Given the description of an element on the screen output the (x, y) to click on. 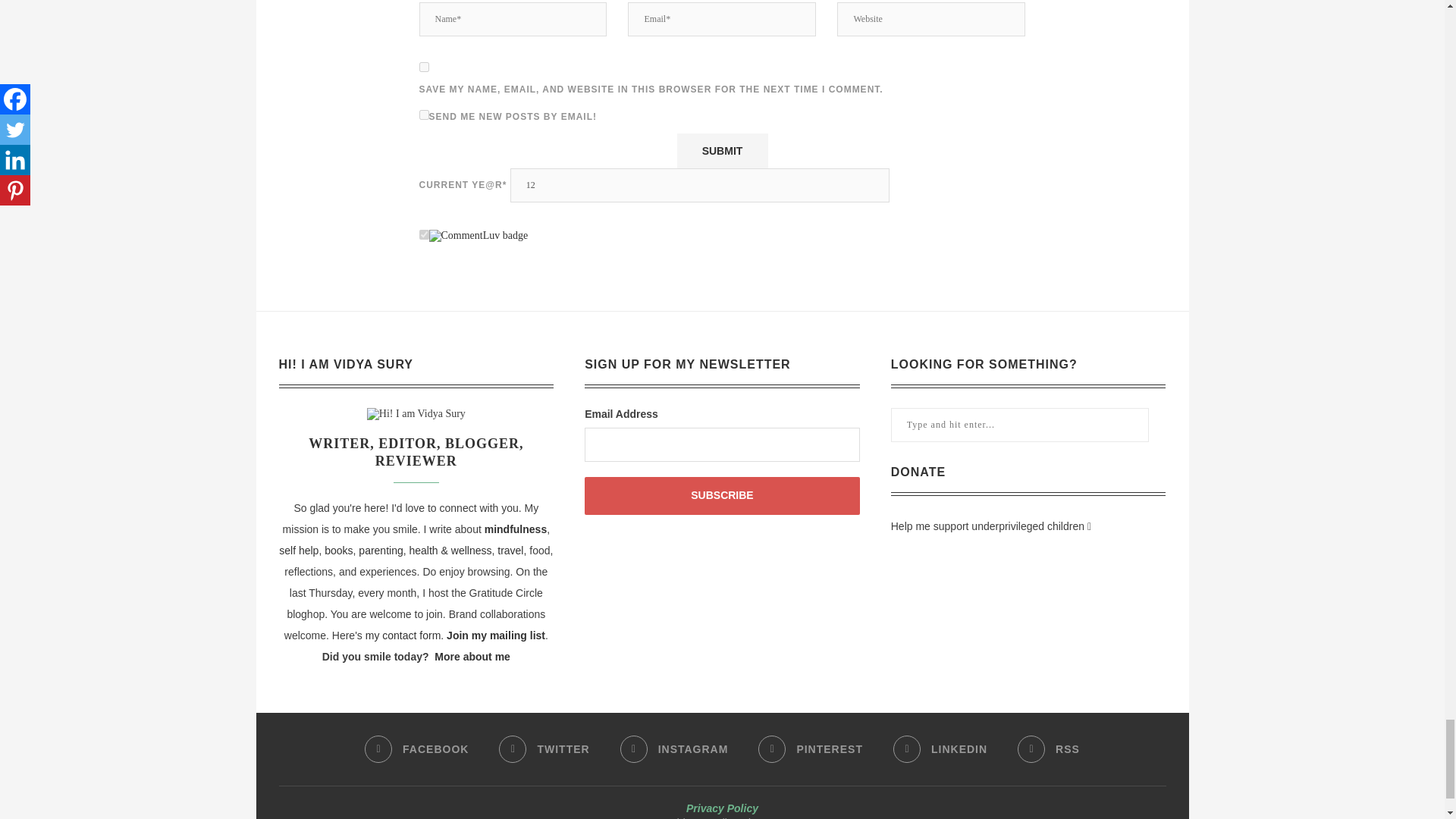
Submit (722, 150)
Subscribe (722, 495)
12 (700, 185)
yes (423, 67)
1 (423, 114)
on (423, 234)
